Given the description of an element on the screen output the (x, y) to click on. 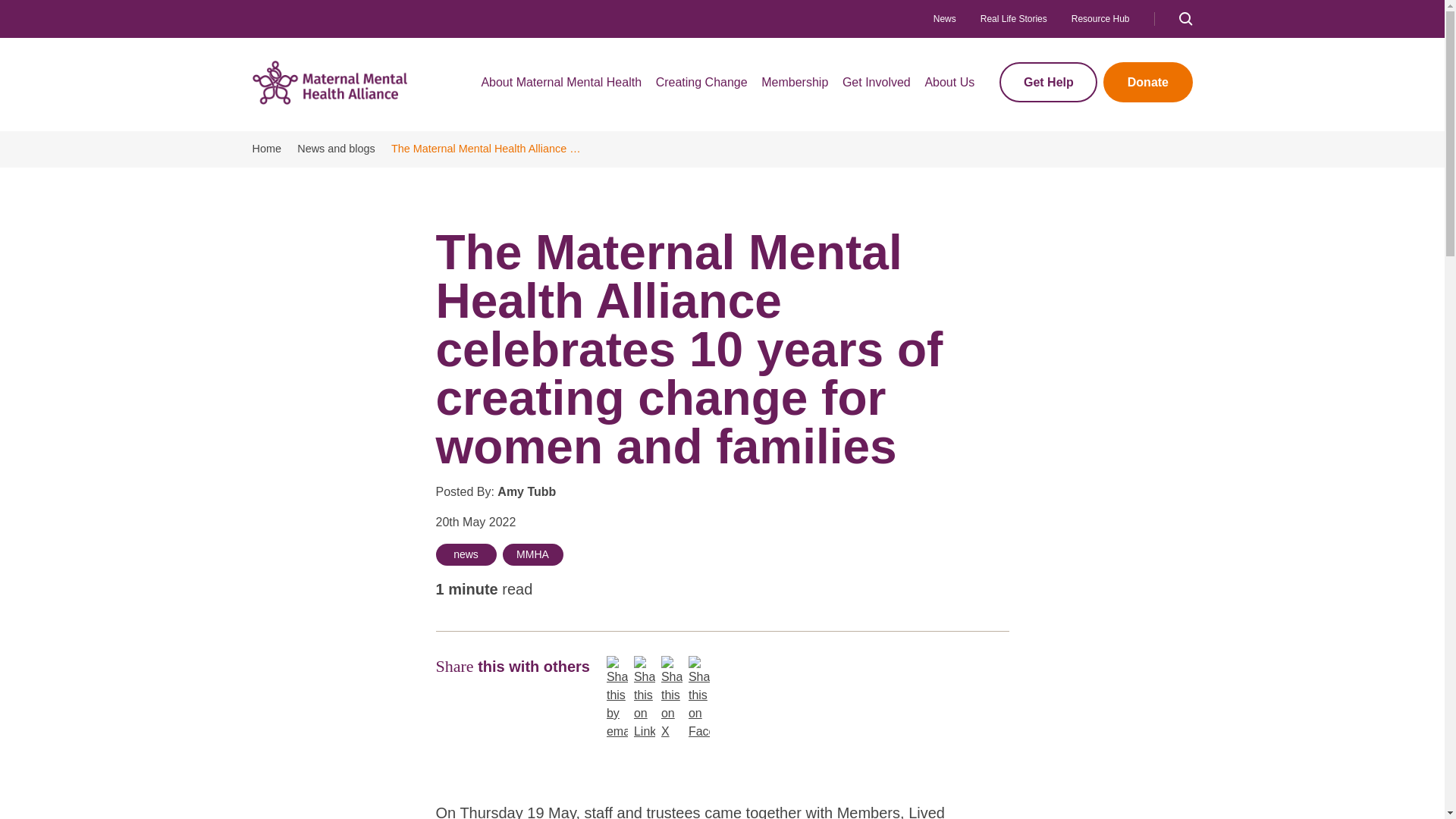
About maternal mental health (560, 88)
Real Life Stories (1012, 18)
Creating change (700, 88)
Go to the homepage (328, 82)
About Maternal Mental Health (560, 88)
News (944, 18)
Creating Change (700, 88)
Resource Hub (1100, 18)
